Given the description of an element on the screen output the (x, y) to click on. 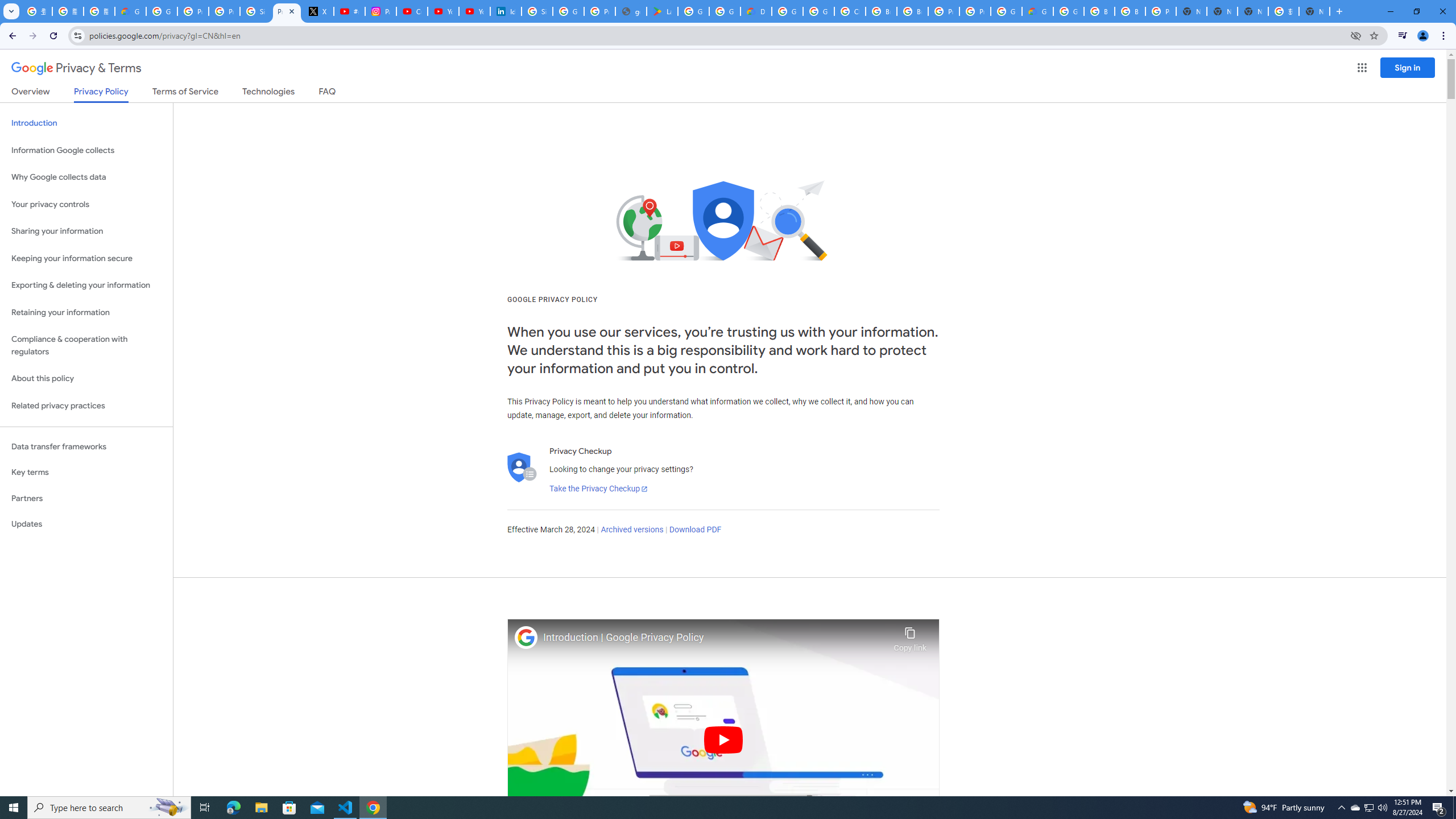
Browse Chrome as a guest - Computer - Google Chrome Help (881, 11)
Why Google collects data (86, 176)
Google Cloud Estimate Summary (1037, 11)
Privacy Help Center - Policies Help (223, 11)
Google Workspace - Specific Terms (724, 11)
New Tab (1314, 11)
Key terms (86, 472)
Related privacy practices (86, 405)
